Given the description of an element on the screen output the (x, y) to click on. 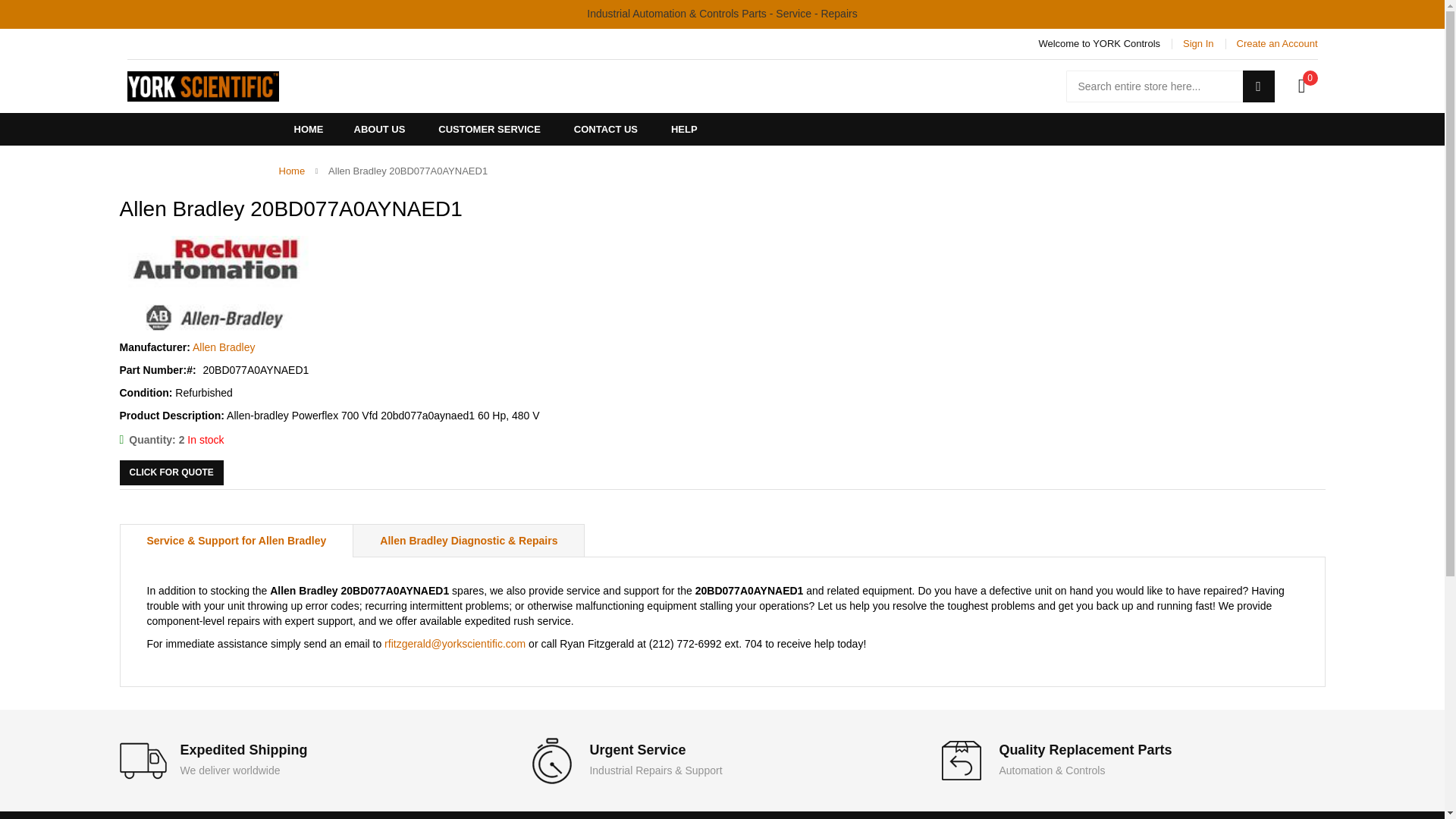
Availability (171, 439)
CUSTOMER SERVICE (489, 129)
Allen Bradley (224, 346)
Allen Bradley (213, 283)
CONTACT US (605, 129)
Home (292, 170)
ABOUT US (378, 129)
Sign In (1197, 43)
0 (1301, 86)
Go to Home Page (292, 170)
Create an Account (1276, 43)
HOME (309, 129)
Search (1257, 86)
HELP (684, 129)
Search (1257, 86)
